Given the description of an element on the screen output the (x, y) to click on. 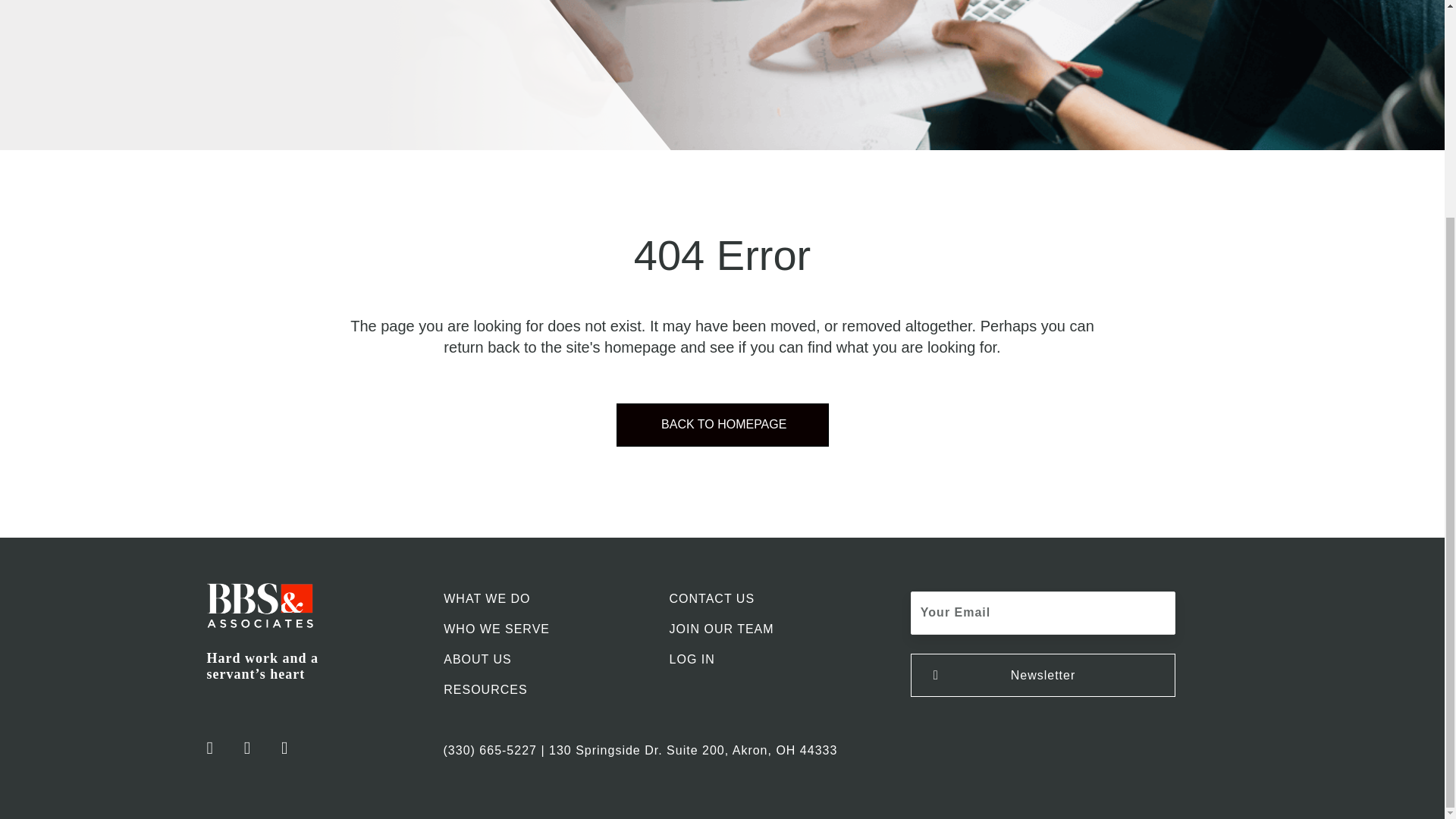
CONTACT US (771, 598)
bbs-logo-white-footer (259, 605)
Newsletter (1042, 674)
LOG IN (771, 659)
BACK TO HOMEPAGE (721, 424)
ABOUT US (545, 659)
RESOURCES (545, 689)
WHAT WE DO (545, 598)
Newsletter (1042, 674)
JOIN OUR TEAM (771, 628)
WHO WE SERVE (545, 628)
